Given the description of an element on the screen output the (x, y) to click on. 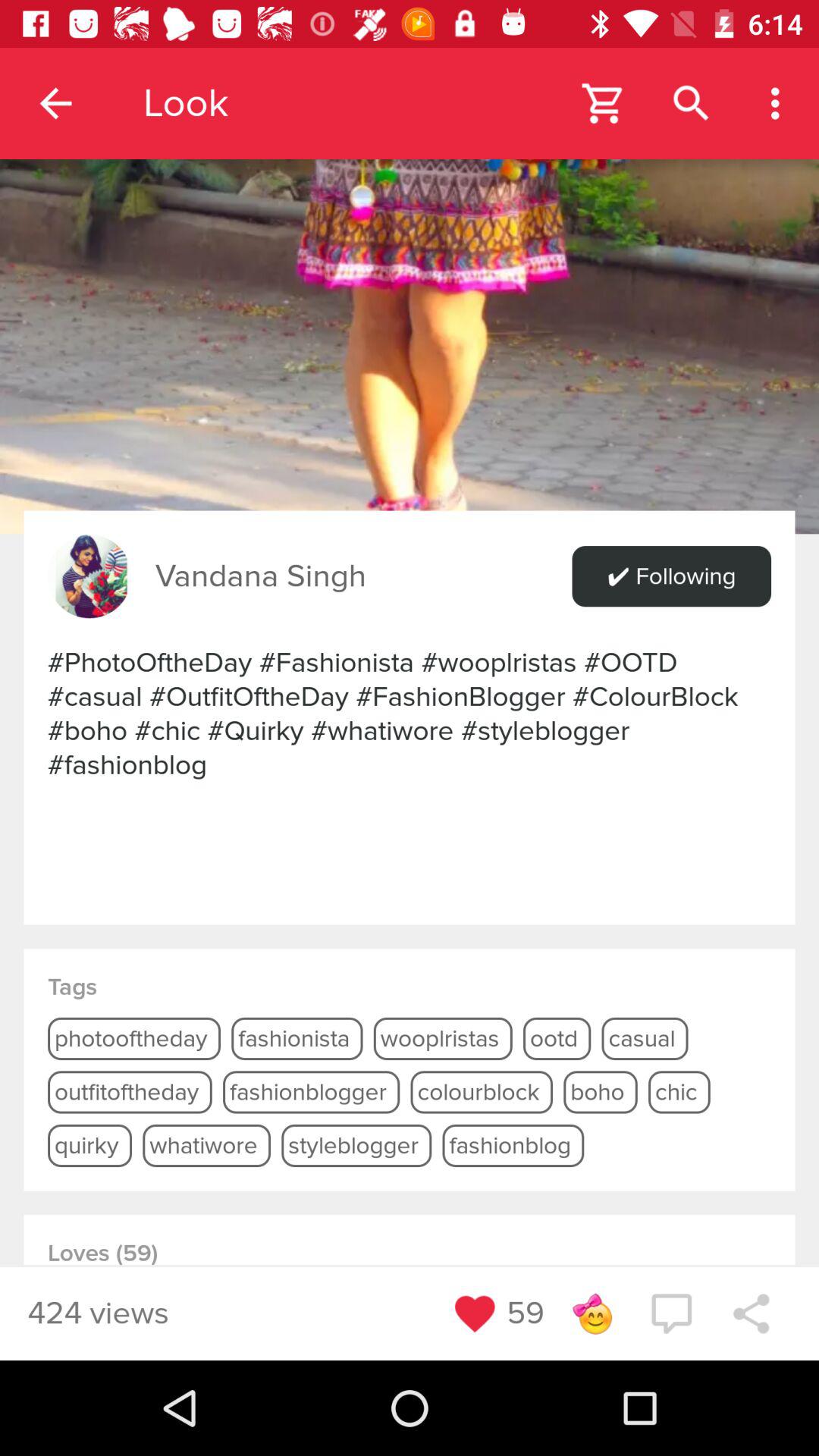
click the item above photooftheday fashionista wooplristas icon (89, 576)
